Given the description of an element on the screen output the (x, y) to click on. 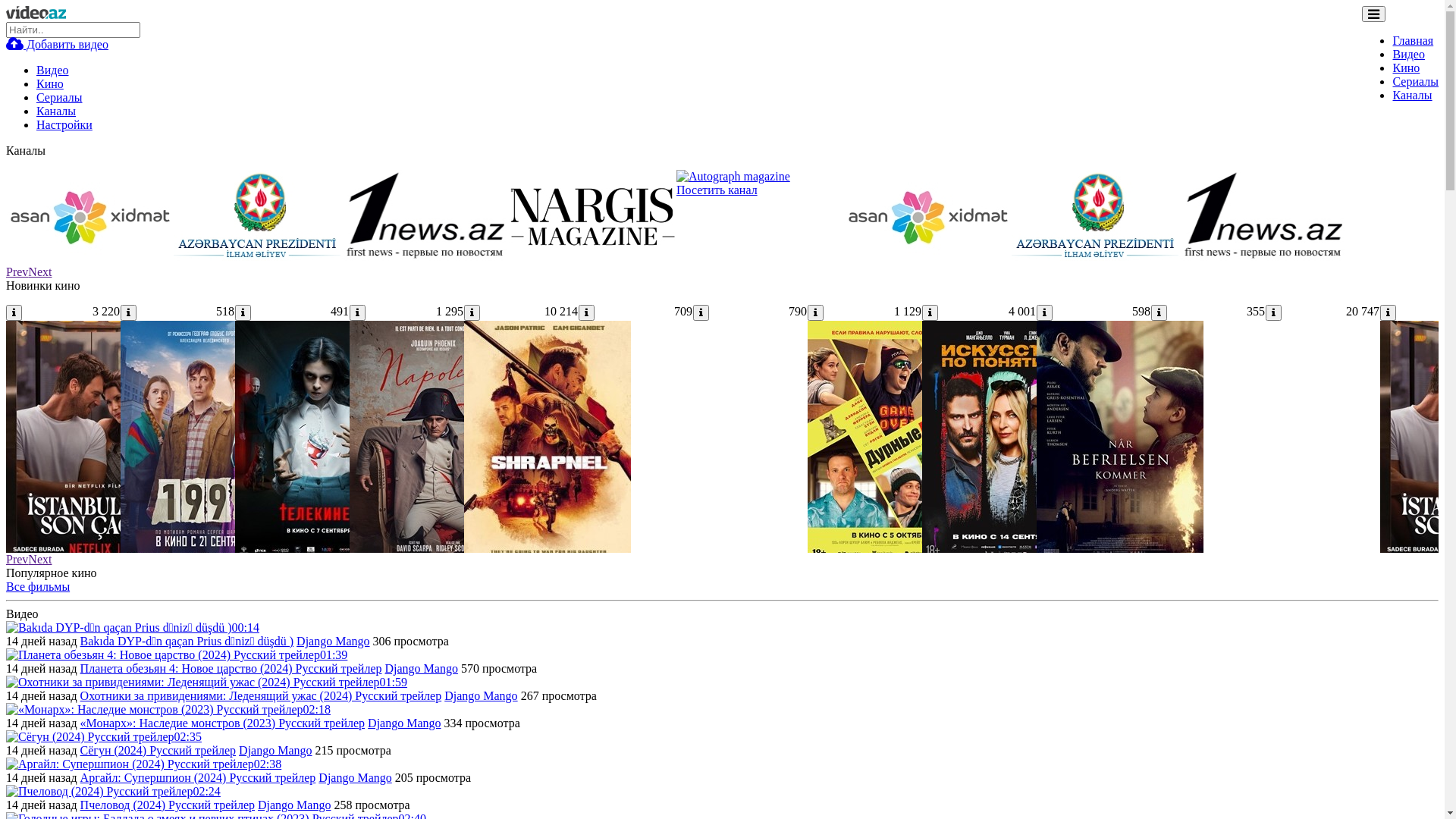
Django Mango Element type: text (354, 777)
Django Mango Element type: text (332, 640)
02:24 Element type: text (113, 790)
Next Element type: text (39, 558)
Django Mango Element type: text (293, 804)
02:38 Element type: text (143, 763)
01:59 Element type: text (206, 681)
Prev Element type: text (17, 558)
Prev Element type: text (17, 271)
Django Mango Element type: text (421, 668)
02:35 Element type: text (103, 736)
02:18 Element type: text (168, 708)
Next Element type: text (39, 271)
Django Mango Element type: text (480, 695)
00:14 Element type: text (132, 627)
01:39 Element type: text (176, 654)
Django Mango Element type: text (403, 722)
Django Mango Element type: text (274, 749)
1993 (2023) HDRip Element type: hover (203, 557)
